Given the description of an element on the screen output the (x, y) to click on. 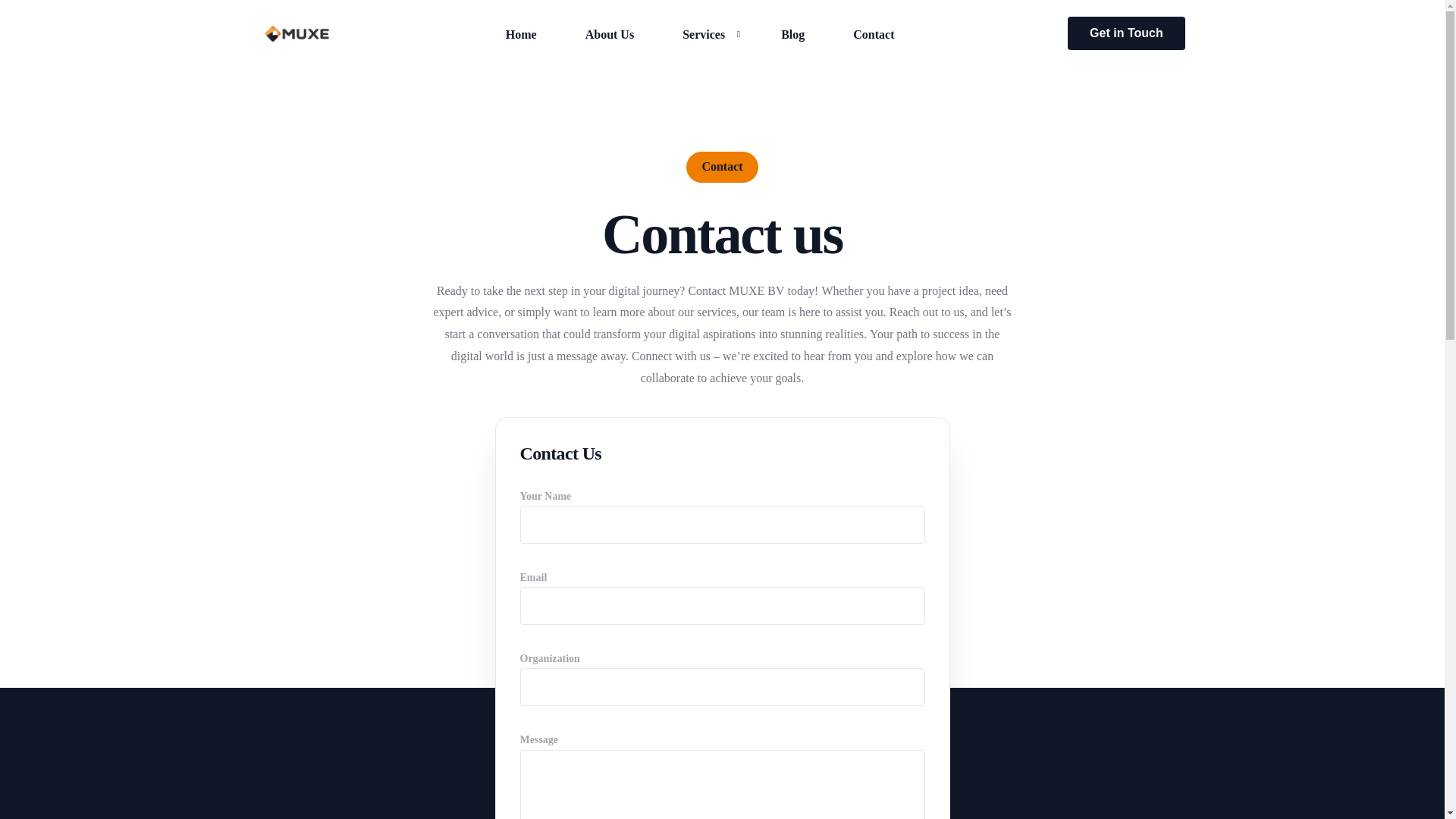
About Us (609, 44)
Contact (873, 33)
Services (707, 42)
Home (520, 47)
Blog (792, 33)
Get in Touch (1126, 32)
